Given the description of an element on the screen output the (x, y) to click on. 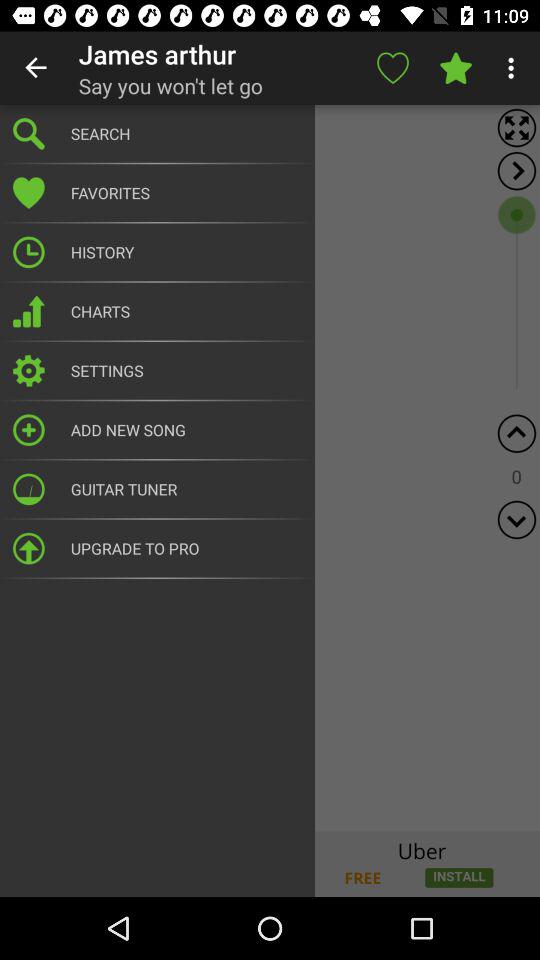
maximize (516, 127)
